Given the description of an element on the screen output the (x, y) to click on. 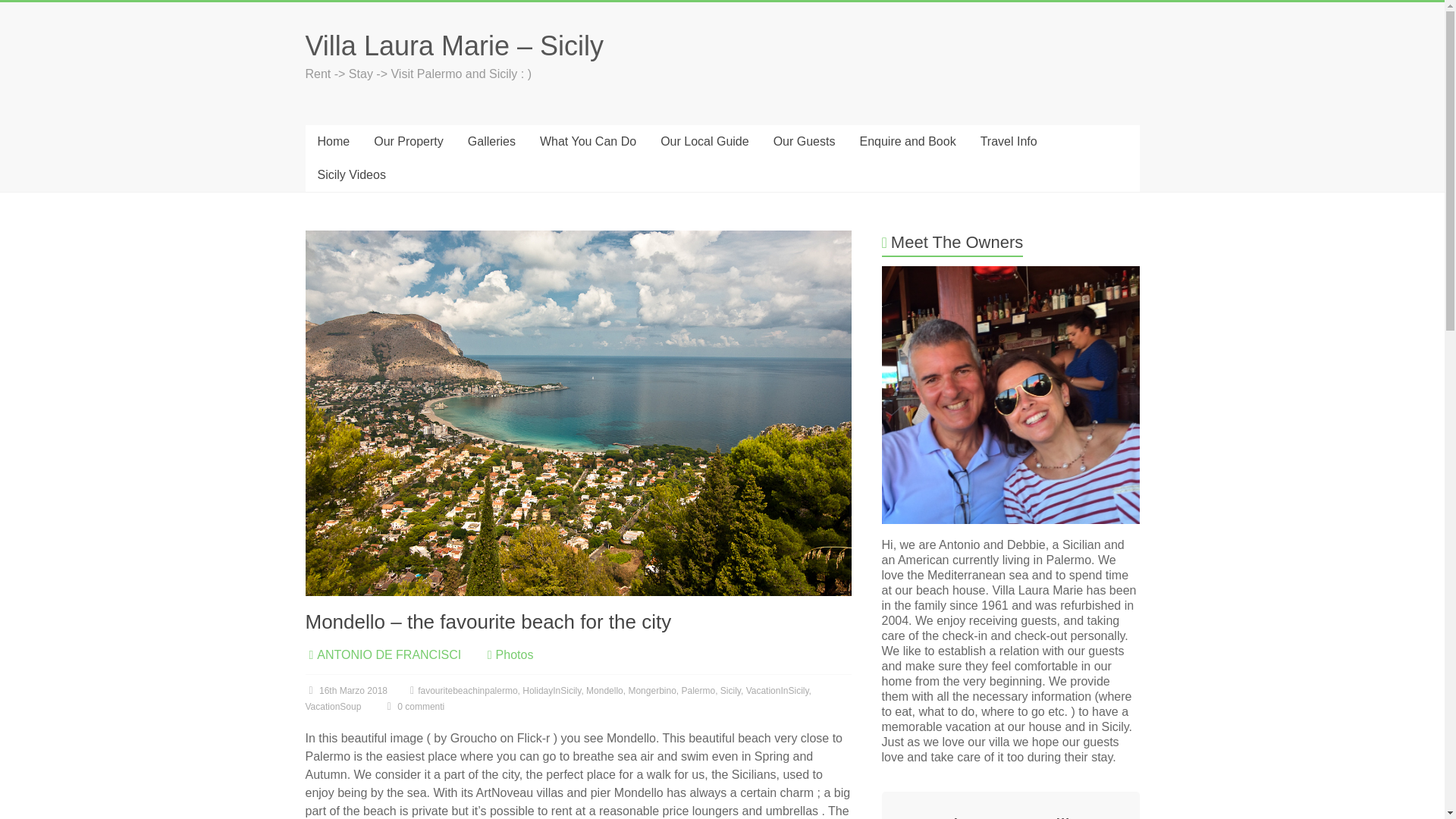
ANTONIO DE FRANCISCI (389, 654)
Our Guests (804, 141)
Mongerbino (651, 690)
16th Marzo 2018 (345, 690)
0 commenti (414, 706)
Enquire and Book (907, 141)
Sicily (730, 690)
Palermo (697, 690)
23:42 (345, 690)
Travel Info (1008, 141)
Photos (515, 654)
VacationInSicily (777, 690)
Our Property (408, 141)
Mondello (604, 690)
HolidayInSicily (551, 690)
